Given the description of an element on the screen output the (x, y) to click on. 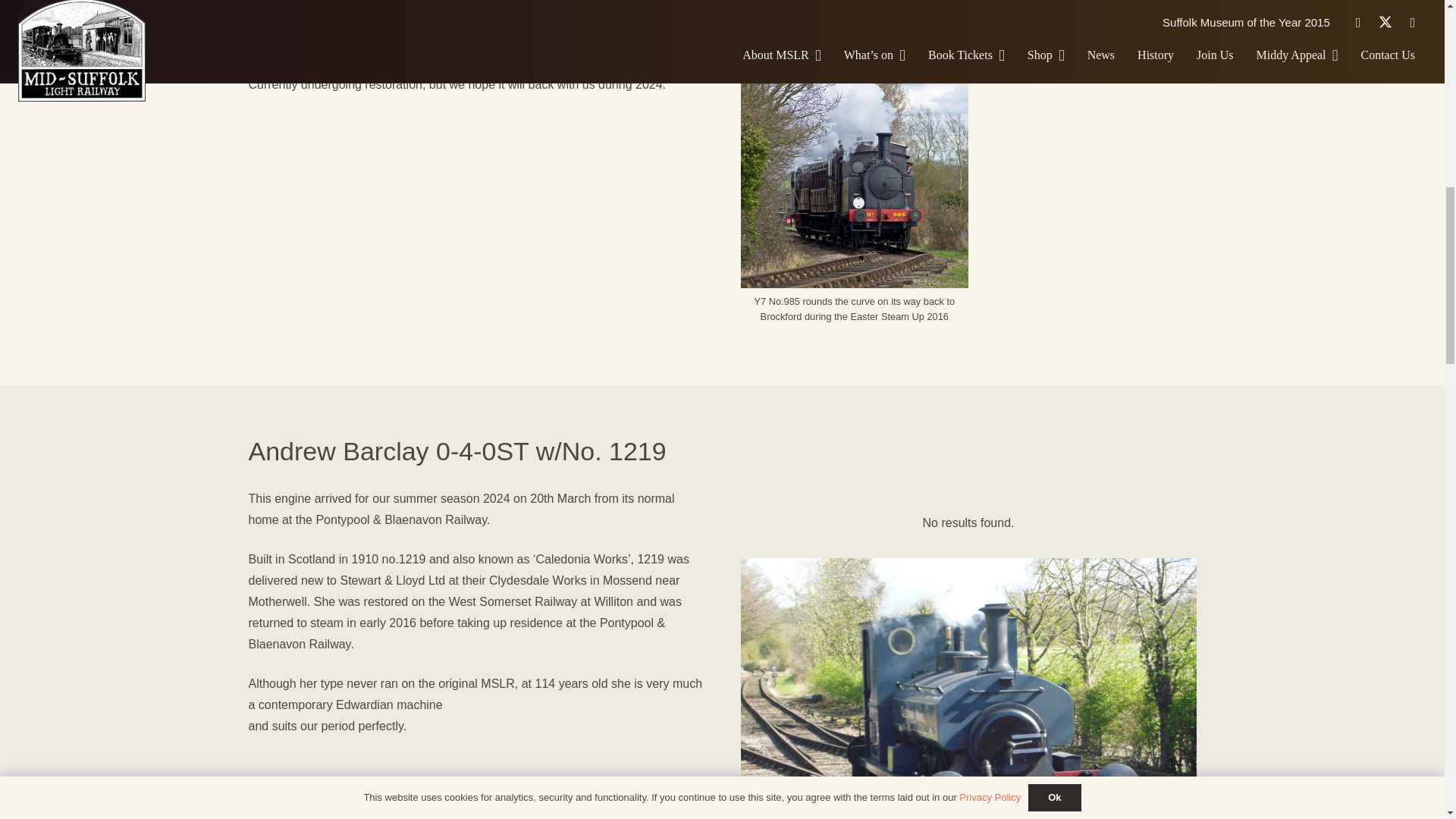
The Y7 on a demonstration freight (853, 29)
Back to top (1413, 26)
